Given the description of an element on the screen output the (x, y) to click on. 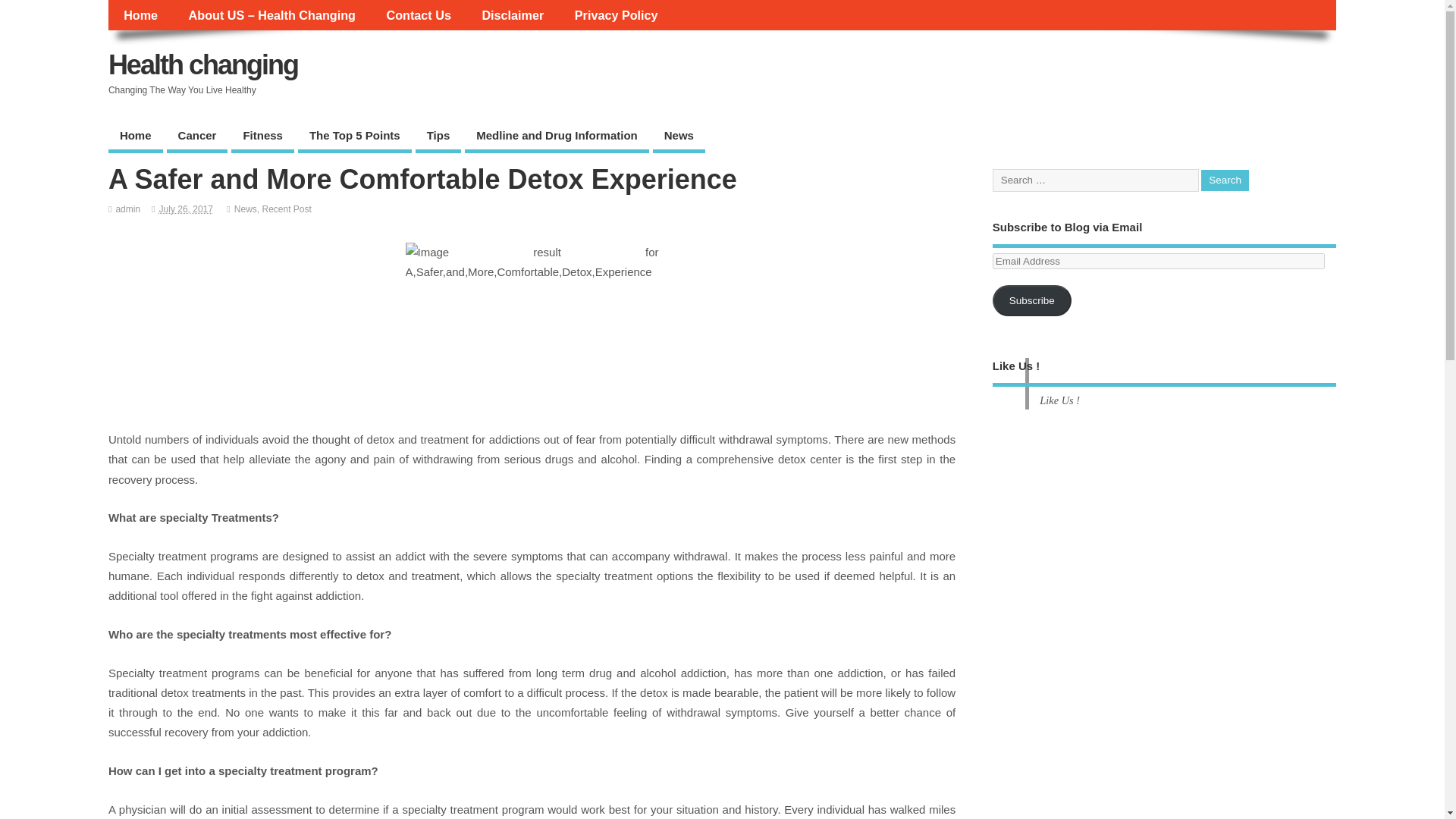
Search (1225, 180)
Cancer (197, 136)
Medline and Drug Information (556, 136)
Posts by admin (127, 208)
Recent Post (286, 208)
Home (135, 136)
Search (1225, 180)
News (245, 208)
Search for: (1095, 179)
Fitness (262, 136)
Disclaimer (512, 15)
Tips (437, 136)
Home (140, 15)
The Top 5 Points (355, 136)
Health changing (202, 64)
